Given the description of an element on the screen output the (x, y) to click on. 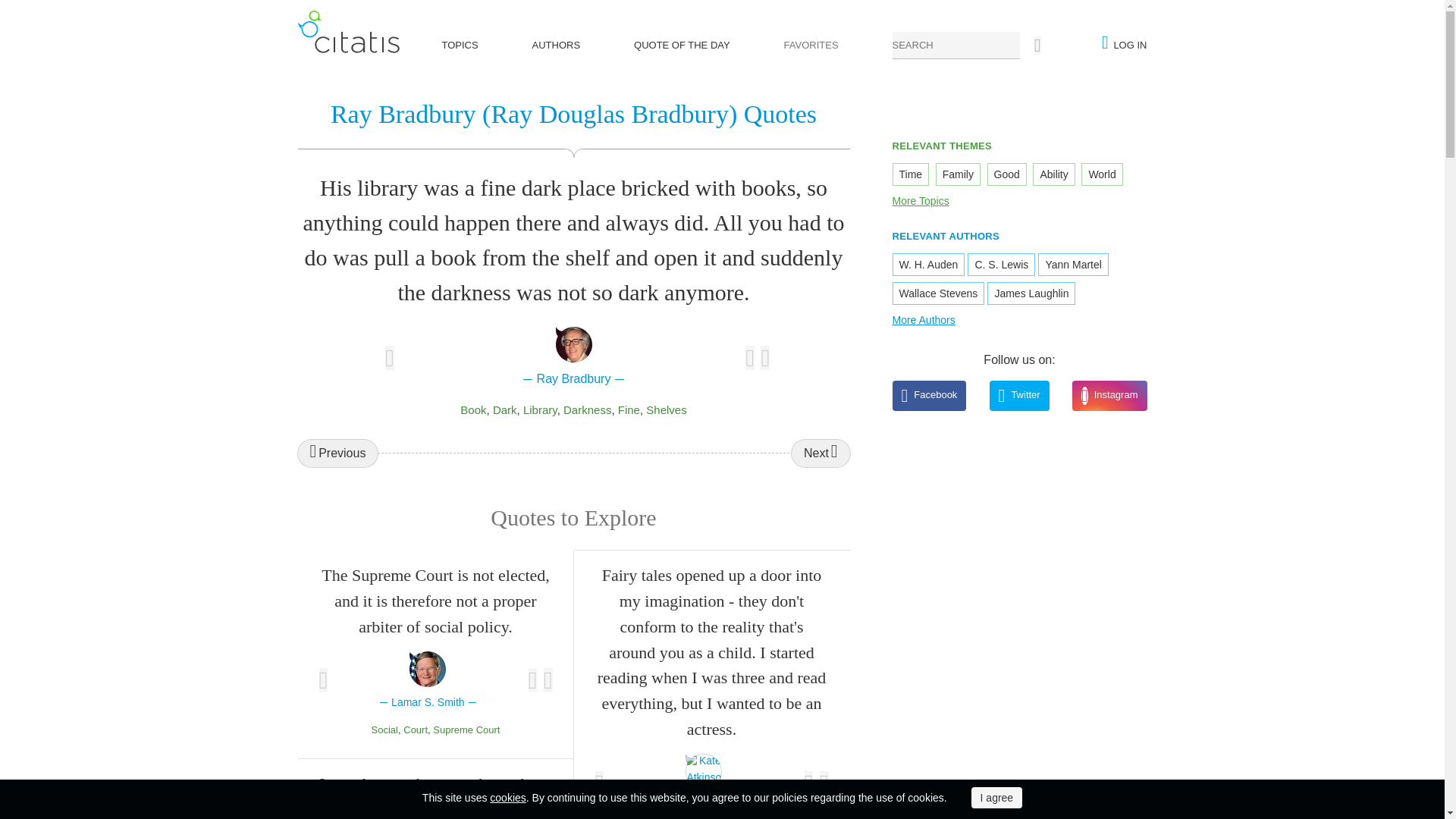
Fine (628, 409)
Add to Favorites (389, 357)
Share to Twitter (548, 680)
Next (821, 452)
I agree (997, 797)
Library (539, 409)
LOG IN (1130, 44)
Court (415, 729)
Share to Facebook (809, 783)
Popular Quotes (347, 31)
Social (384, 729)
Add to Favorites (599, 783)
Dark (504, 409)
Lamar S. Smith (427, 680)
Ray Bradbury (573, 357)
